Given the description of an element on the screen output the (x, y) to click on. 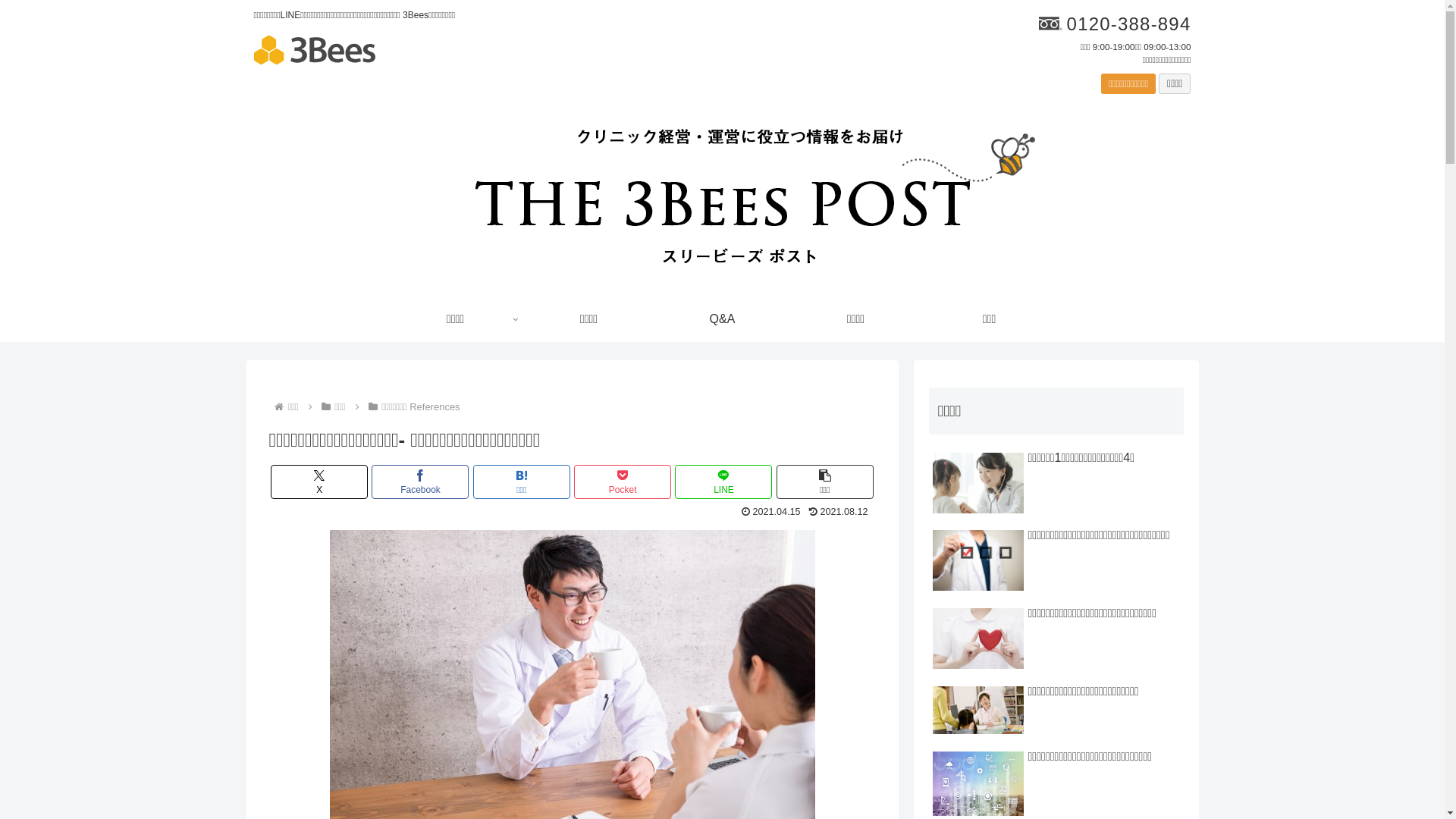
Pocket Element type: text (622, 481)
Facebook Element type: text (419, 481)
Q&A Element type: text (721, 319)
X Element type: text (318, 481)
LINE Element type: text (722, 481)
